Given the description of an element on the screen output the (x, y) to click on. 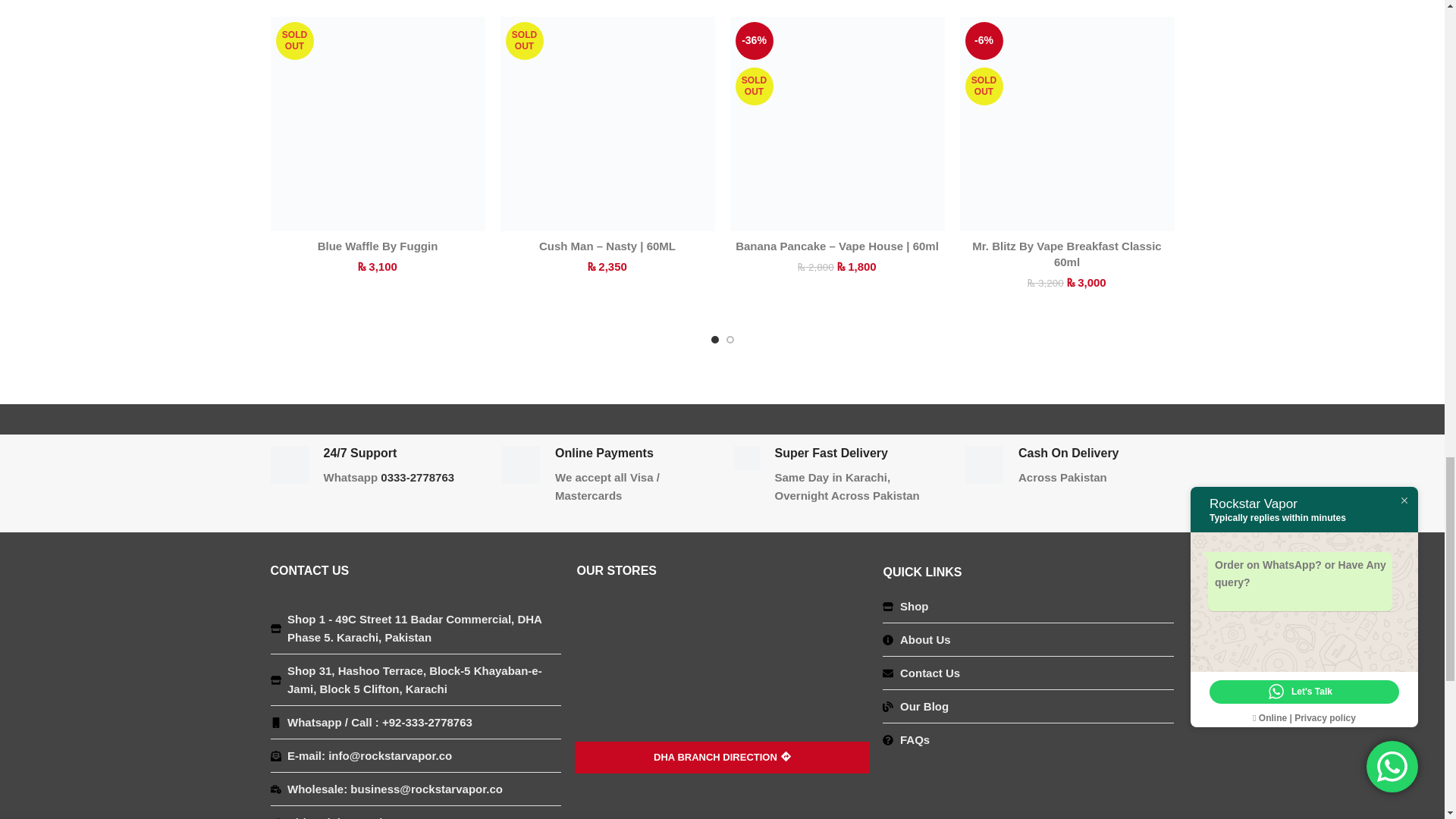
googlemap-dha (721, 686)
googlemap-clifton (721, 803)
